Given the description of an element on the screen output the (x, y) to click on. 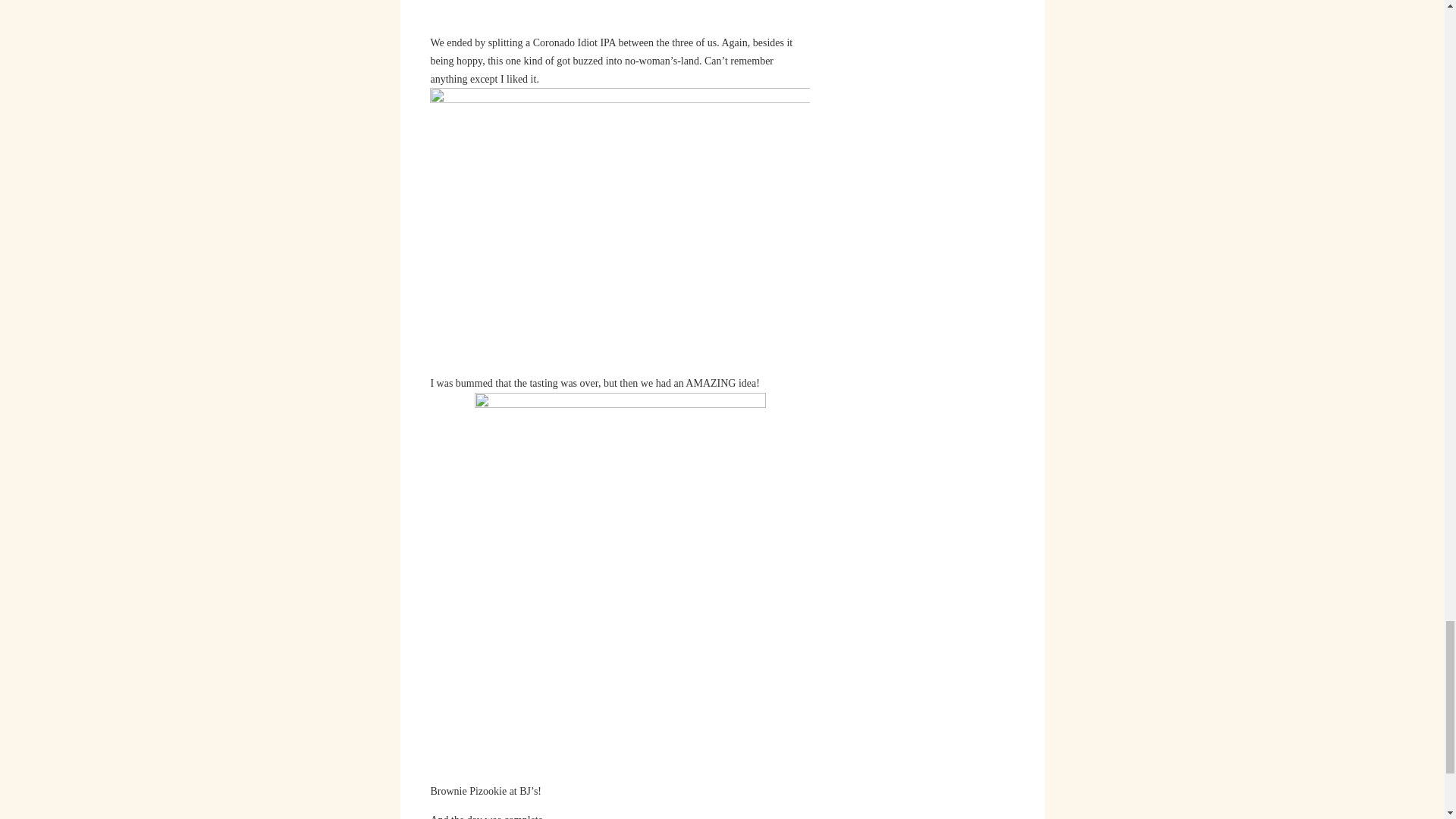
AM8 (619, 229)
AM7 (619, 16)
